Given the description of an element on the screen output the (x, y) to click on. 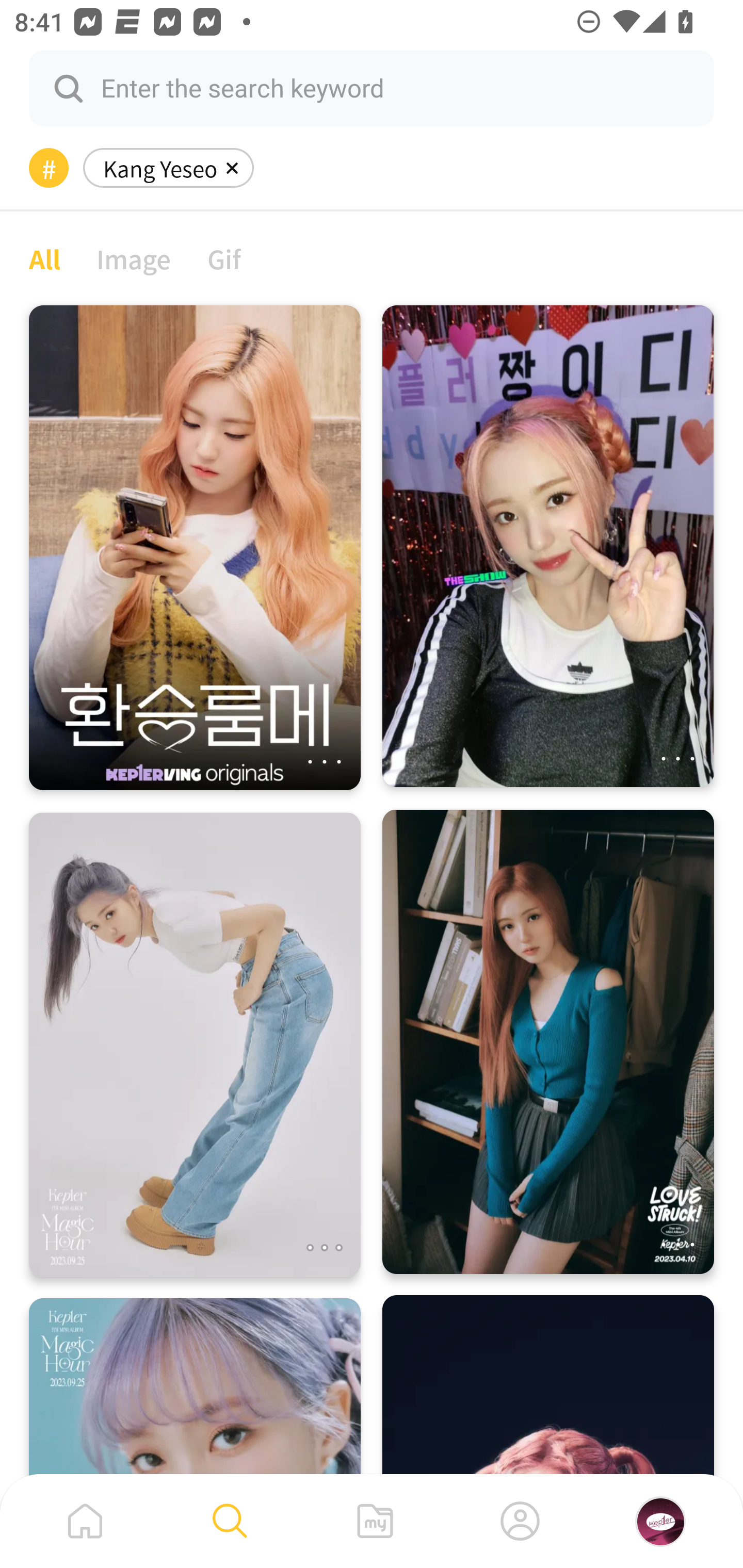
All (44, 257)
Image (133, 257)
Gif (223, 257)
